Given the description of an element on the screen output the (x, y) to click on. 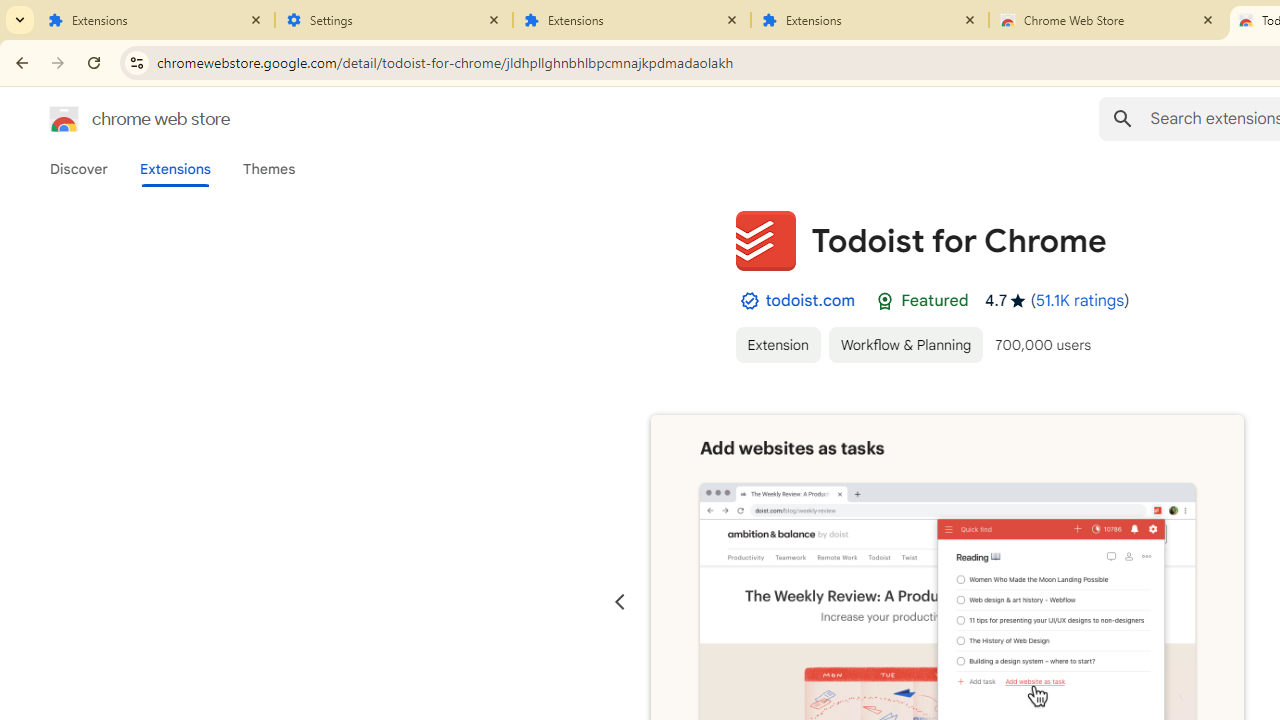
By Established Publisher Badge (749, 301)
Extensions (174, 169)
Chrome Web Store (1108, 20)
Item logo image for Todoist for Chrome (765, 240)
Previous slide (619, 601)
Featured Badge (884, 301)
Discover (79, 169)
Settings (394, 20)
Extensions (156, 20)
Themes (269, 169)
Extension (777, 344)
